Given the description of an element on the screen output the (x, y) to click on. 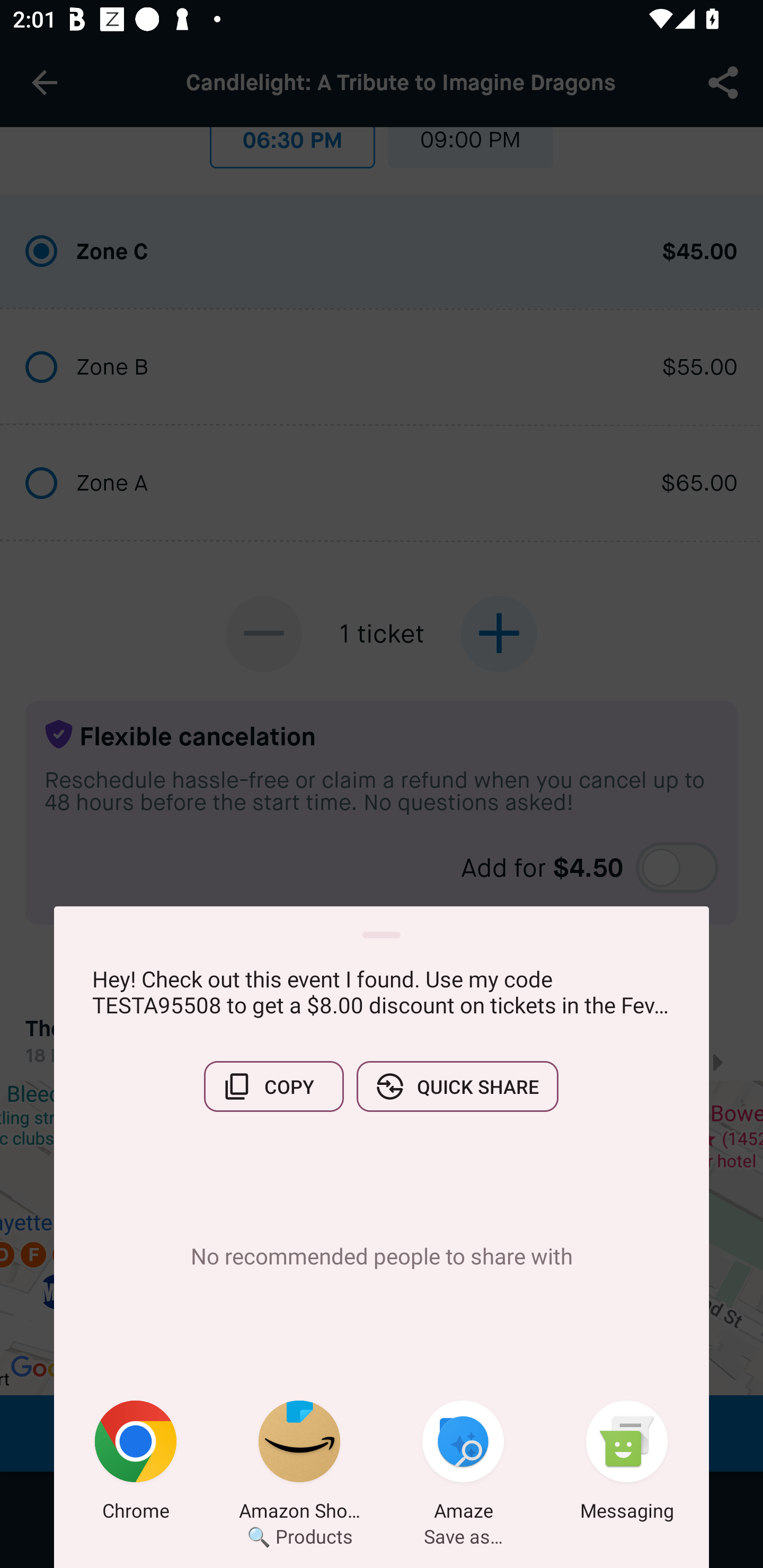
COPY (273, 1086)
QUICK SHARE (457, 1086)
Chrome (135, 1463)
Amazon Shopping 🔍 Products (299, 1463)
Amaze Save as… (463, 1463)
Messaging (626, 1463)
